Given the description of an element on the screen output the (x, y) to click on. 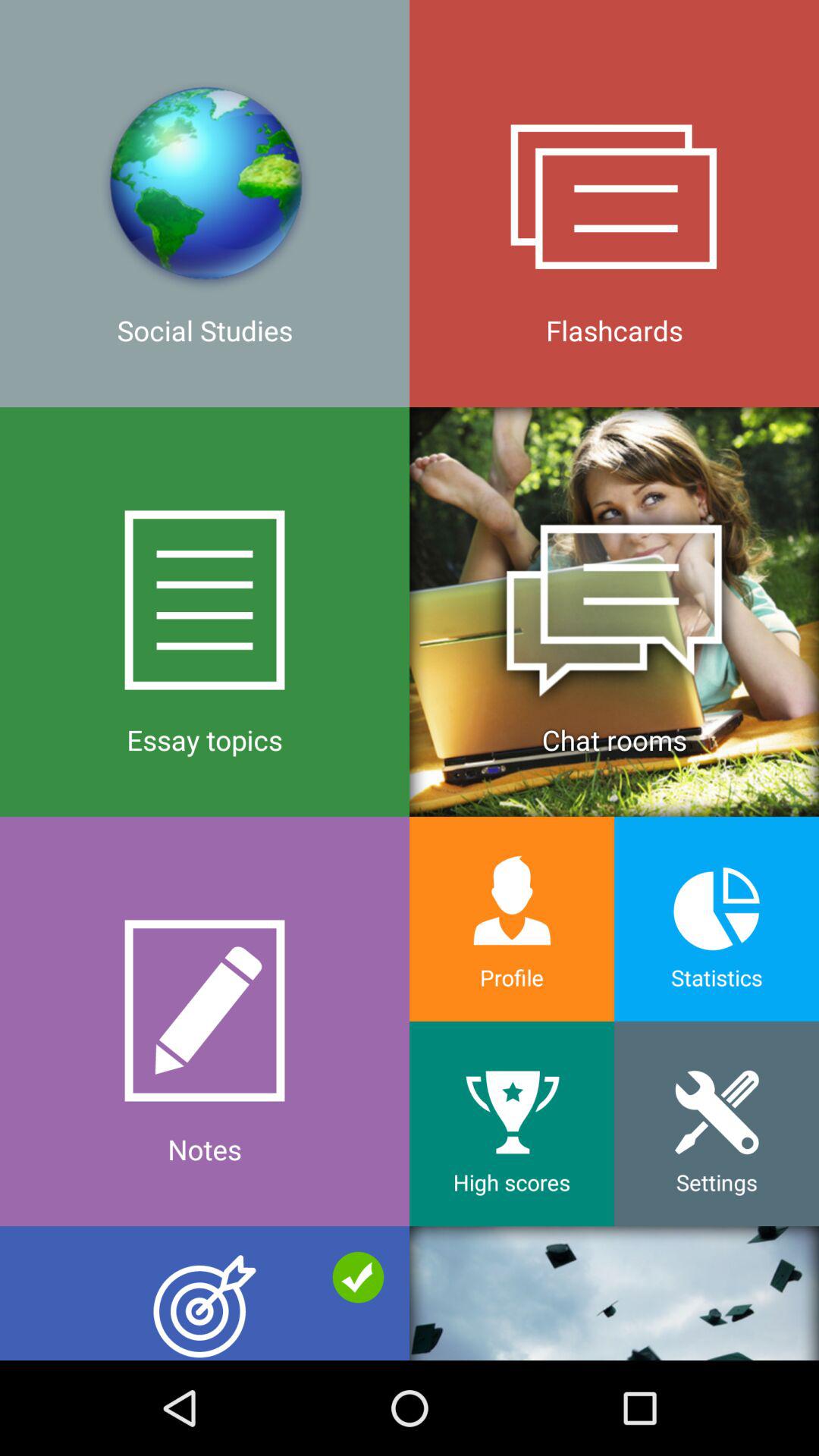
tap item next to the statistics item (511, 918)
